Given the description of an element on the screen output the (x, y) to click on. 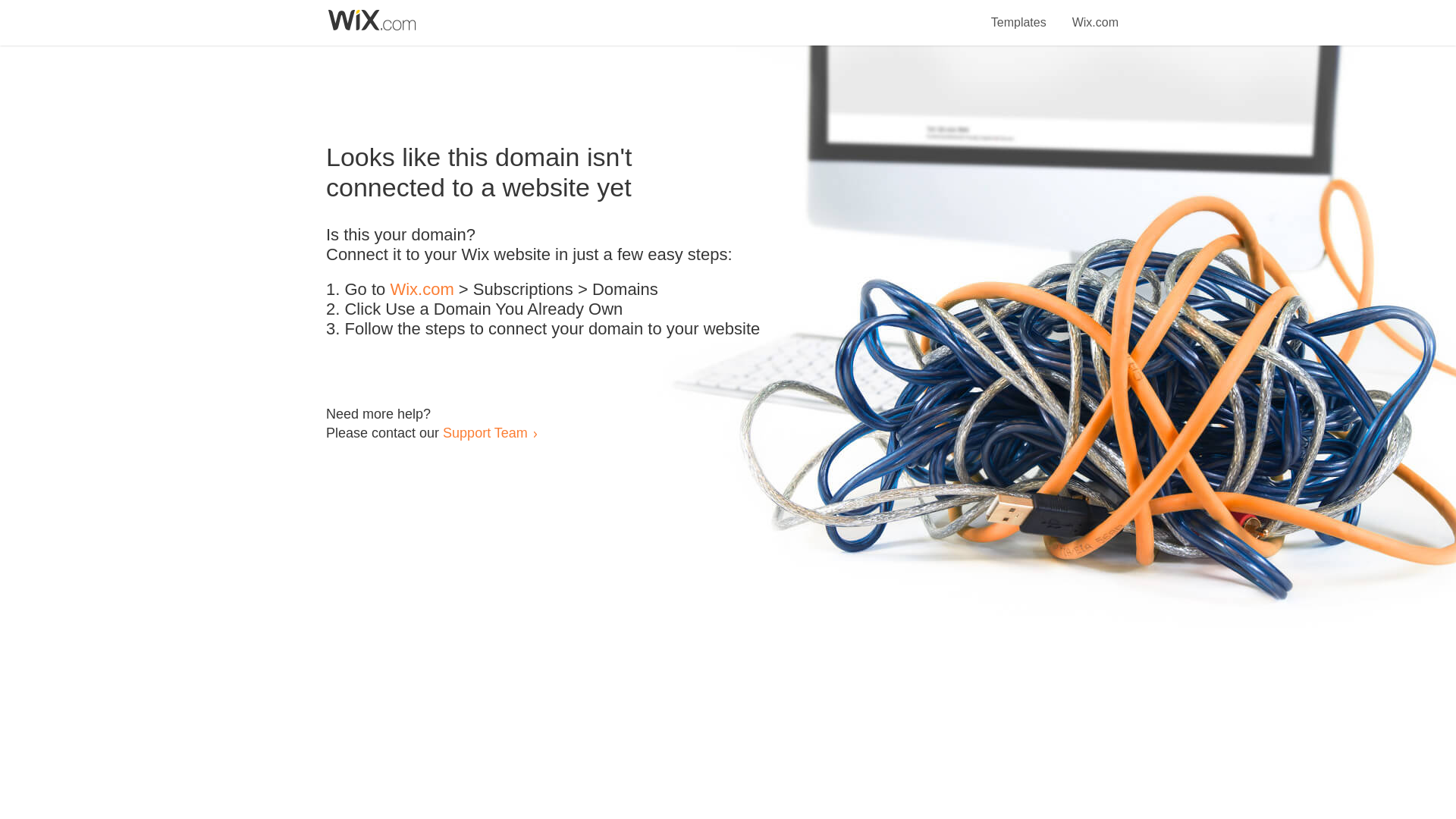
Wix.com (421, 289)
Support Team (484, 432)
Templates (1018, 14)
Wix.com (1095, 14)
